Given the description of an element on the screen output the (x, y) to click on. 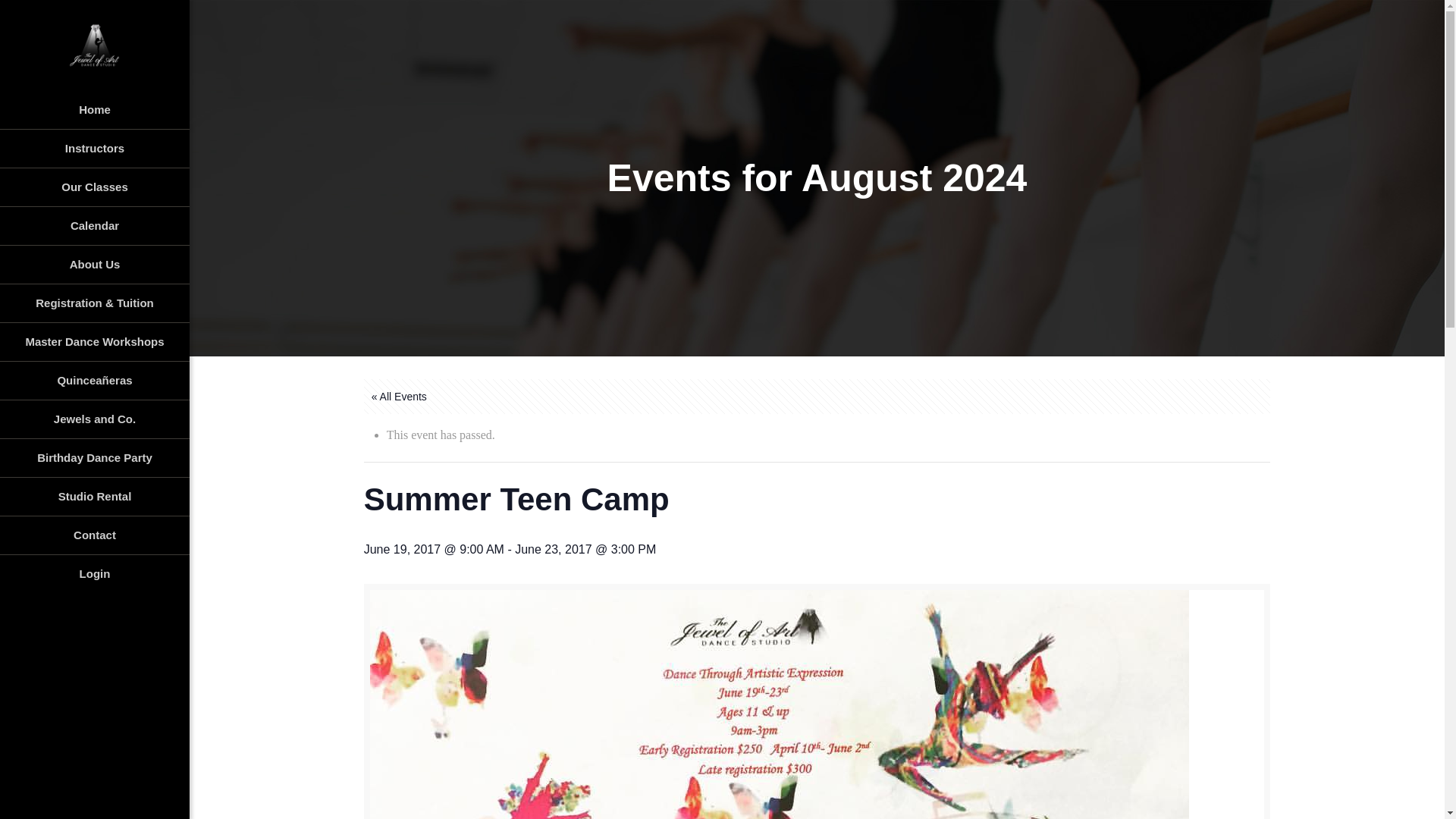
Home (94, 109)
About Us (94, 264)
Our Classes (94, 187)
The Jewel of Art Dance Studio (94, 45)
Contact (94, 535)
Studio Rental (94, 496)
Instructors (94, 148)
Master Dance Workshops (94, 341)
Jewels and Co. (94, 419)
Birthday Dance Party (94, 457)
